Given the description of an element on the screen output the (x, y) to click on. 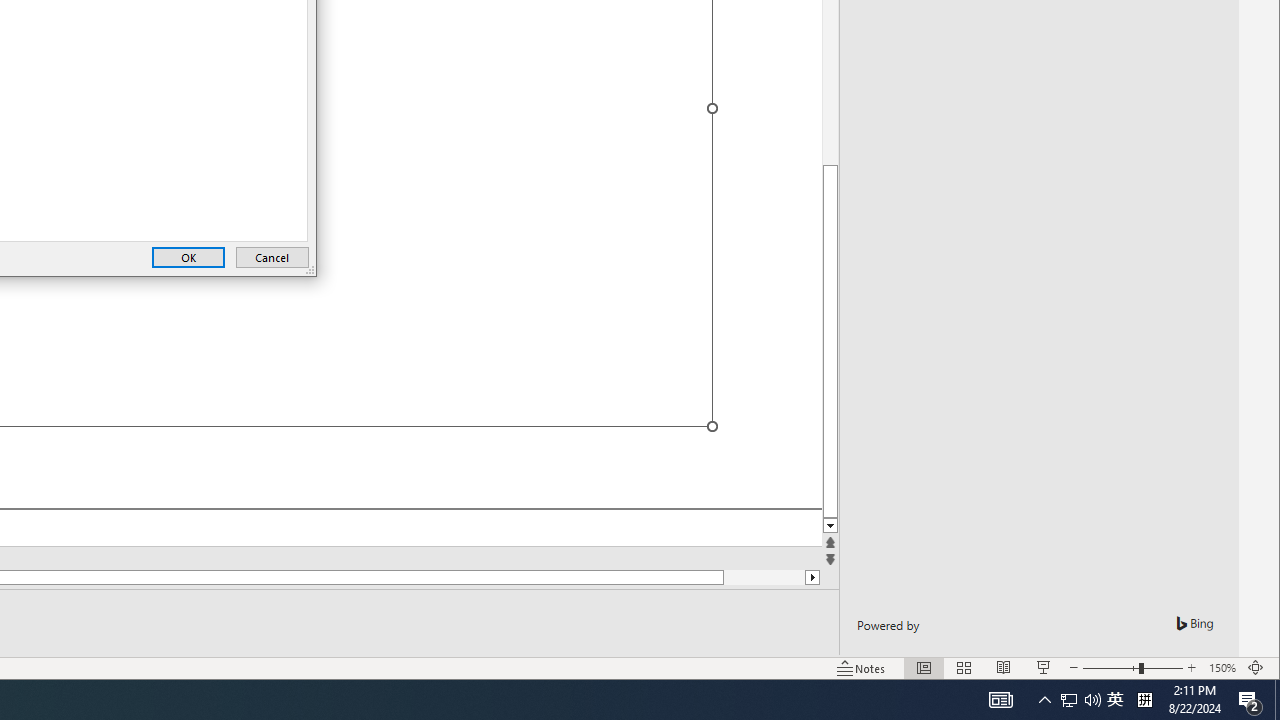
Show desktop (1069, 699)
